Given the description of an element on the screen output the (x, y) to click on. 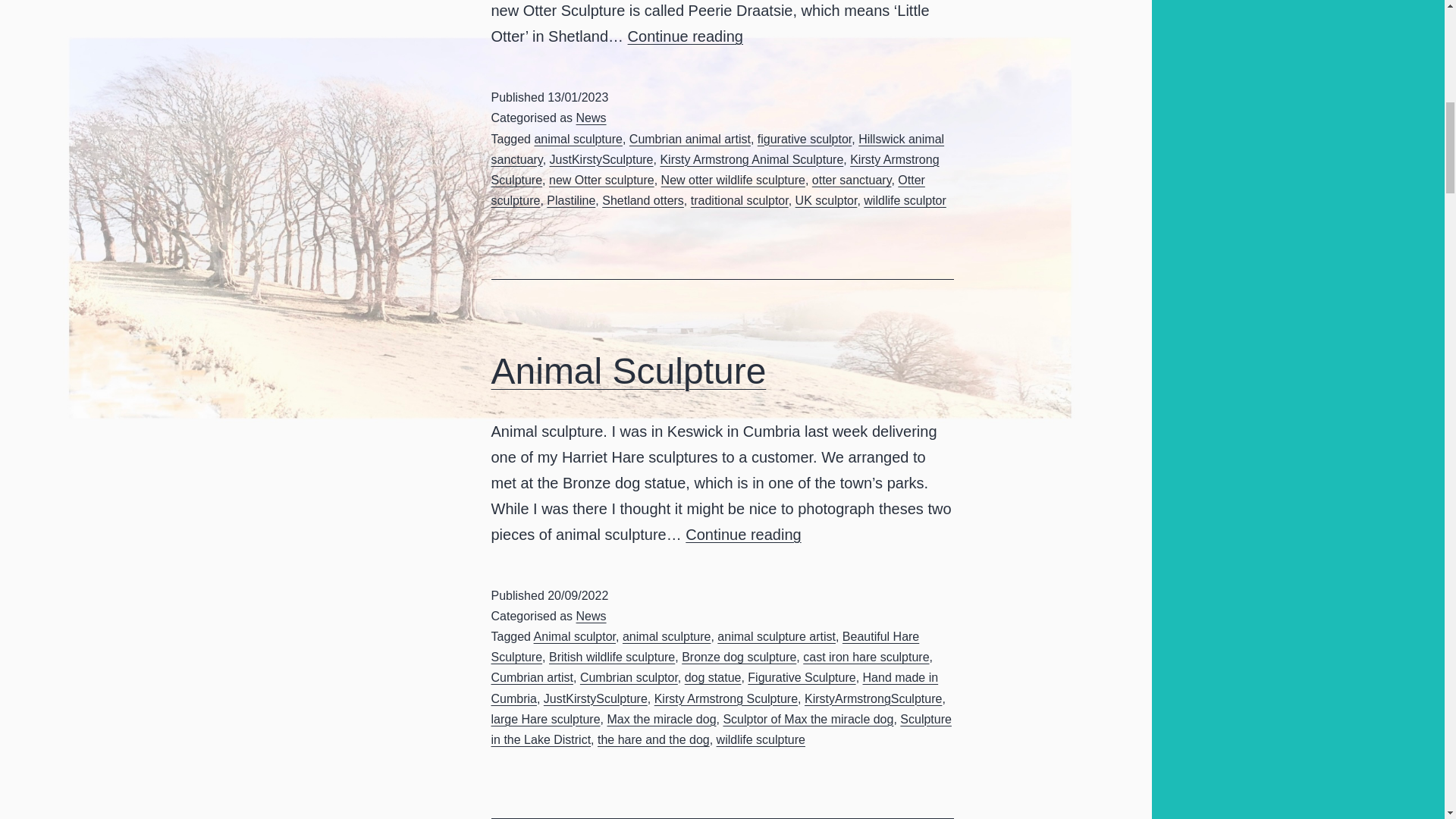
Kirsty Armstrong Animal Sculpture (751, 159)
wildlife sculptor (903, 200)
animal sculpture (578, 138)
new Otter sculpture (600, 179)
traditional sculptor (739, 200)
Kirsty Armstrong Sculpture (715, 169)
New otter wildlife sculpture (733, 179)
figurative sculptor (684, 36)
Shetland otters (804, 138)
Hillswick animal sanctuary (643, 200)
Plastiline (718, 149)
News (571, 200)
JustKirstySculpture (591, 117)
Cumbrian animal artist (601, 159)
